Given the description of an element on the screen output the (x, y) to click on. 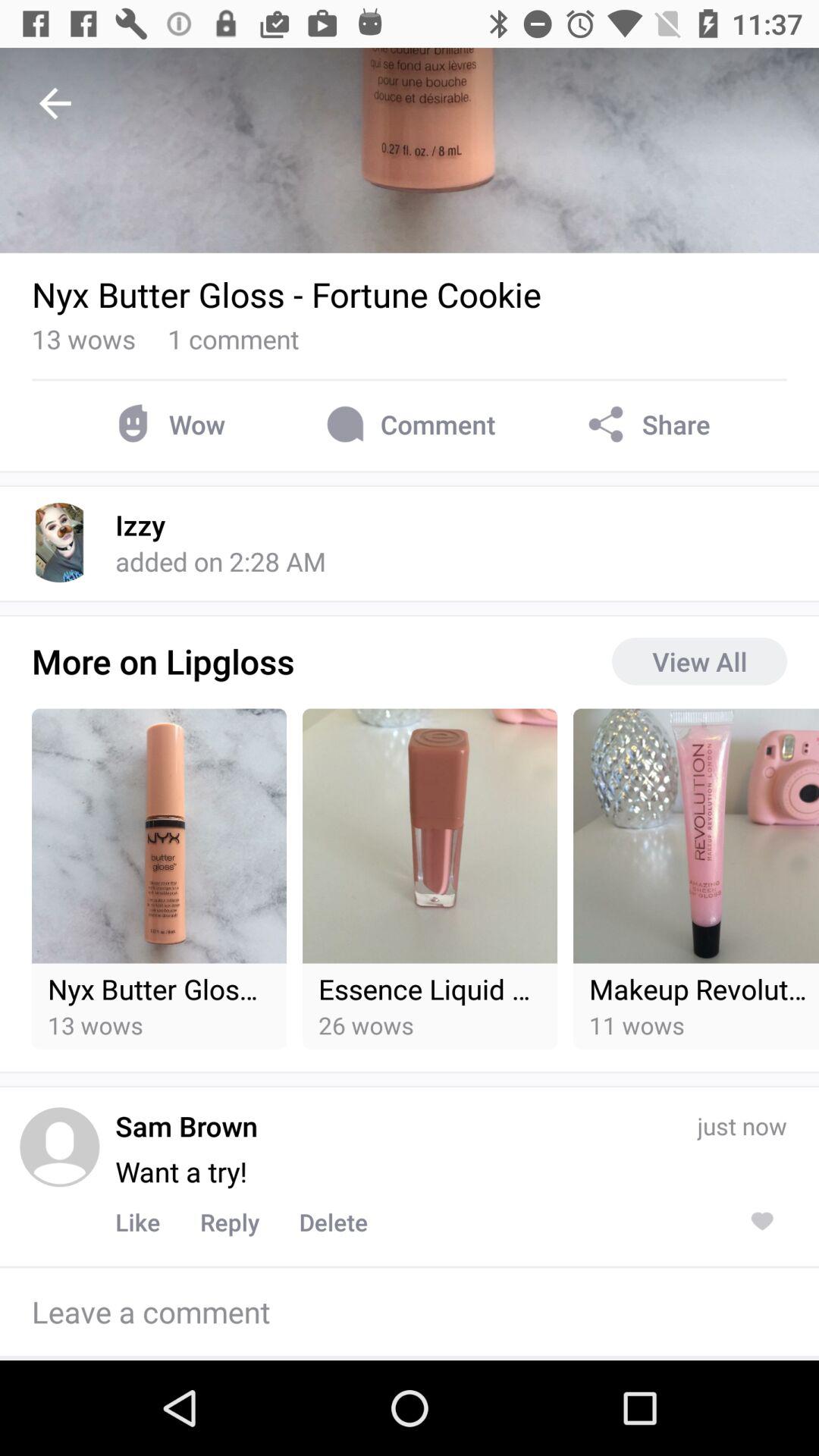
profile icon image (59, 1146)
